Given the description of an element on the screen output the (x, y) to click on. 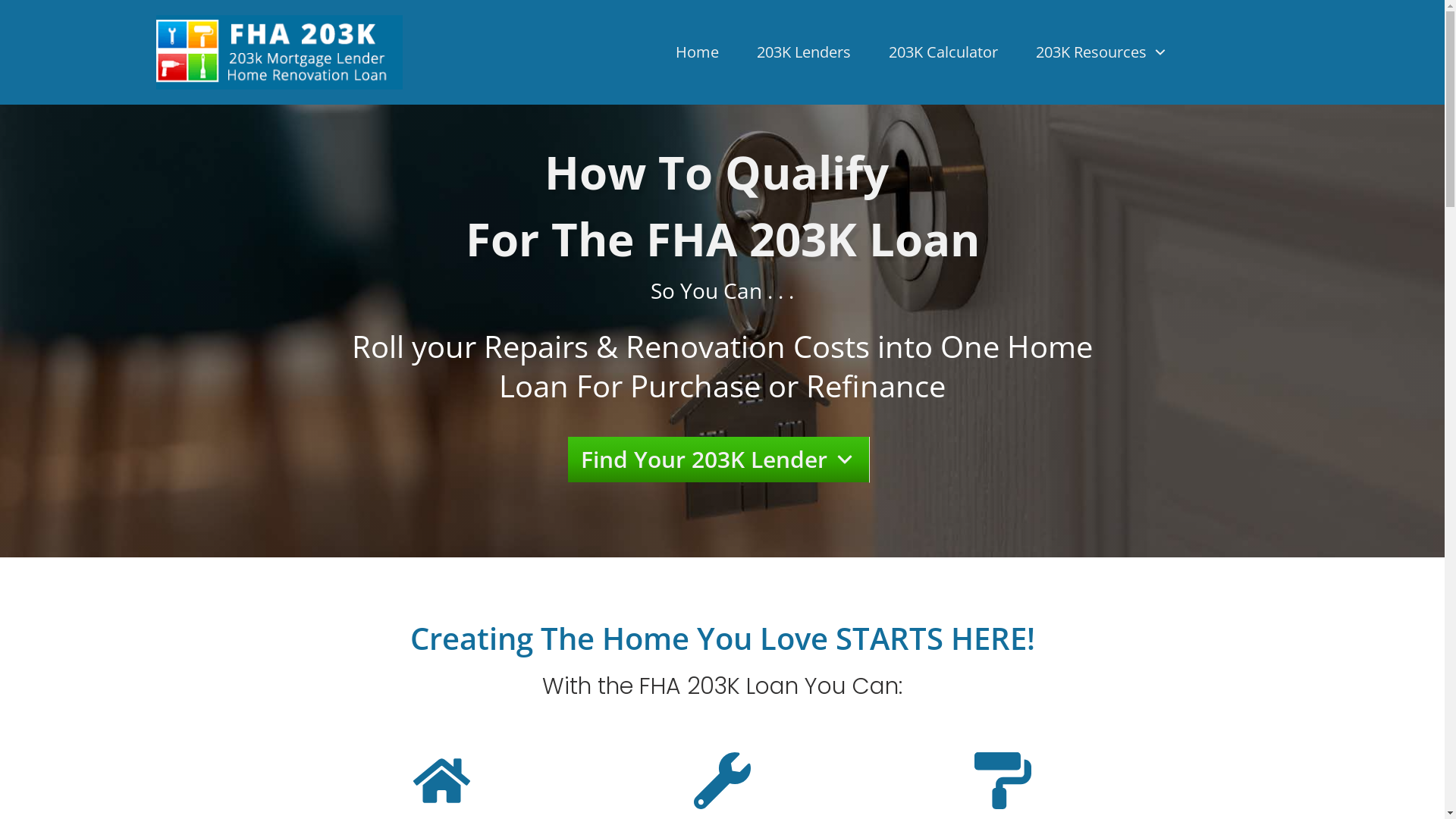
203K Lenders Element type: text (803, 52)
Find Your 203K Lender Element type: text (718, 459)
Home Element type: text (696, 52)
203K Calculator Element type: text (942, 52)
203K Resources Element type: text (1101, 52)
